Given the description of an element on the screen output the (x, y) to click on. 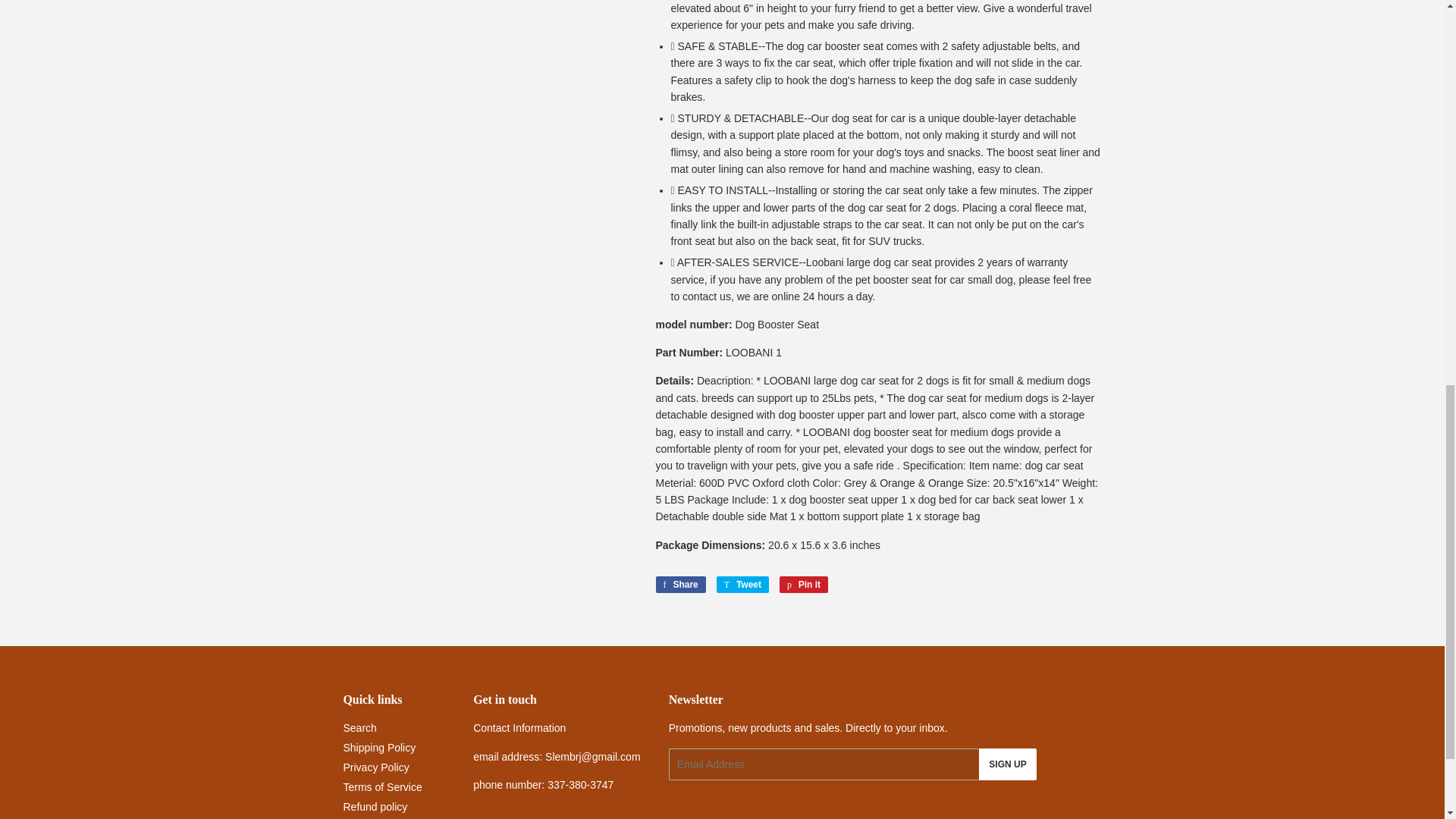
Share on Facebook (679, 584)
Pin on Pinterest (803, 584)
Tweet on Twitter (742, 584)
